Given the description of an element on the screen output the (x, y) to click on. 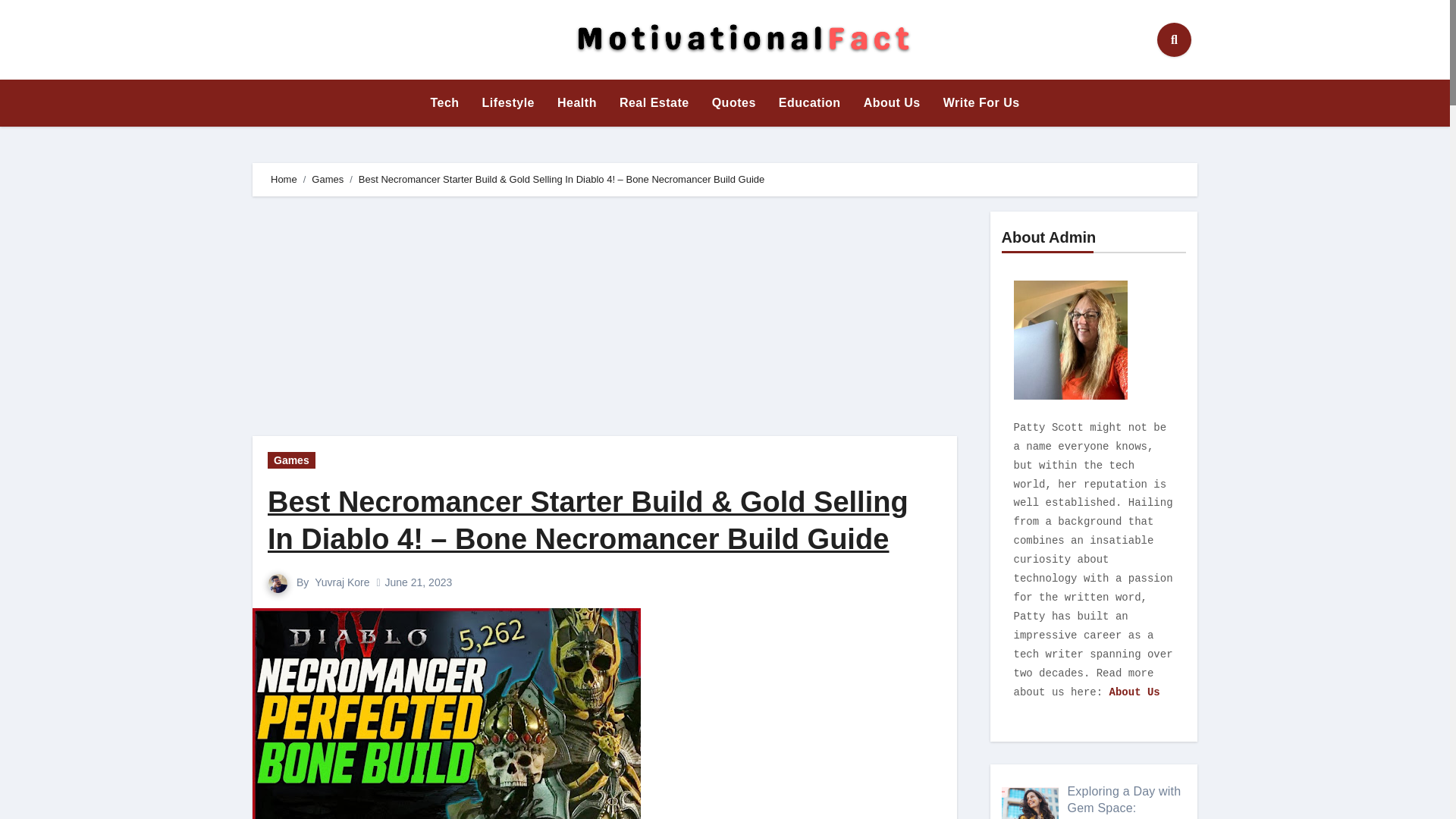
June 21, 2023 (418, 582)
Write For Us (980, 102)
Real Estate (654, 102)
Yuvraj Kore (341, 582)
Games (327, 179)
Education (809, 102)
Real Estate (654, 102)
Quotes (733, 102)
Health (577, 102)
About Us (891, 102)
Tech (444, 102)
About Us (891, 102)
Health (577, 102)
Games (291, 460)
